Given the description of an element on the screen output the (x, y) to click on. 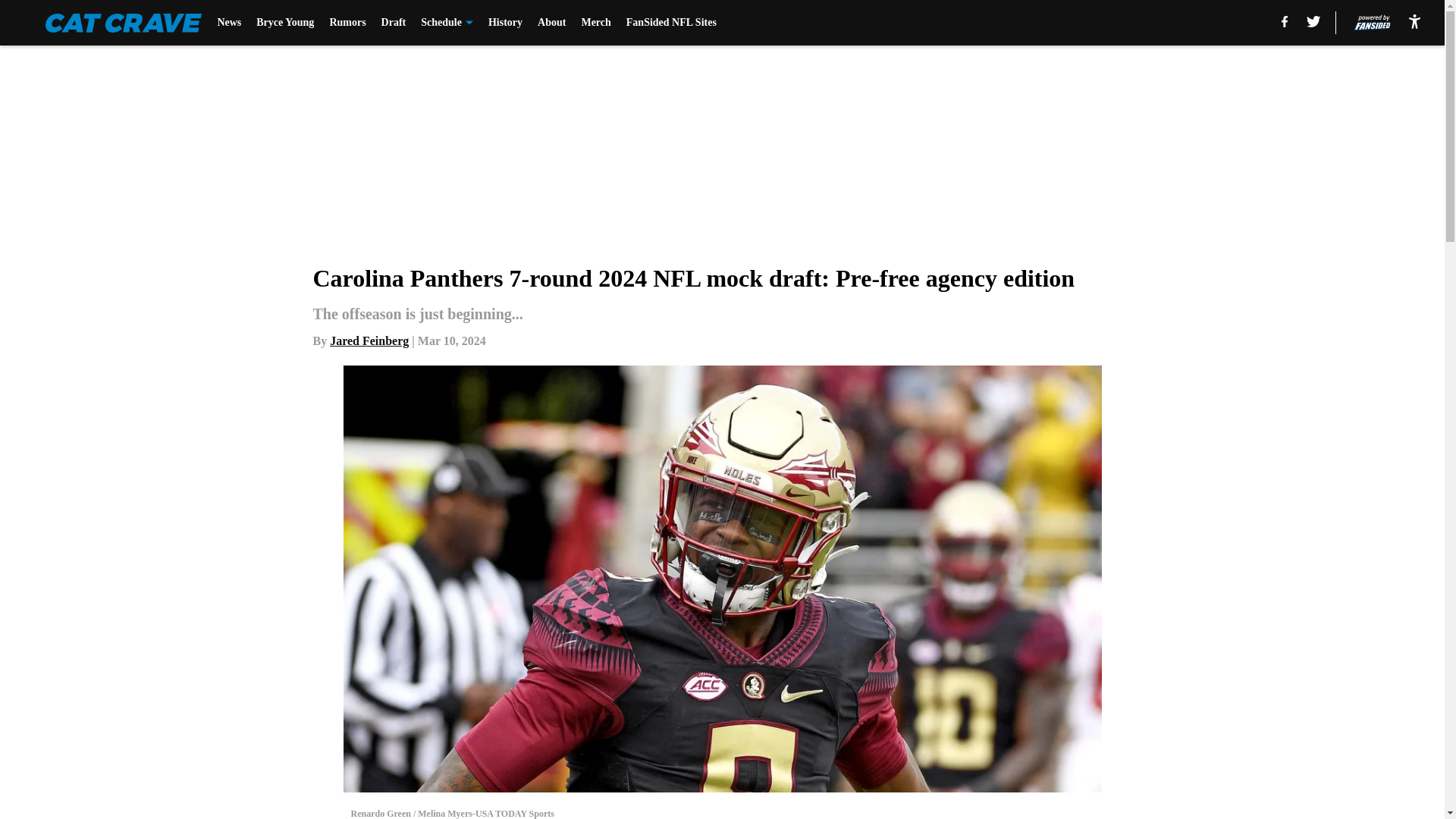
Bryce Young (285, 22)
About (551, 22)
Rumors (347, 22)
Jared Feinberg (369, 340)
Merch (595, 22)
FanSided NFL Sites (671, 22)
History (504, 22)
News (228, 22)
Draft (393, 22)
